Given the description of an element on the screen output the (x, y) to click on. 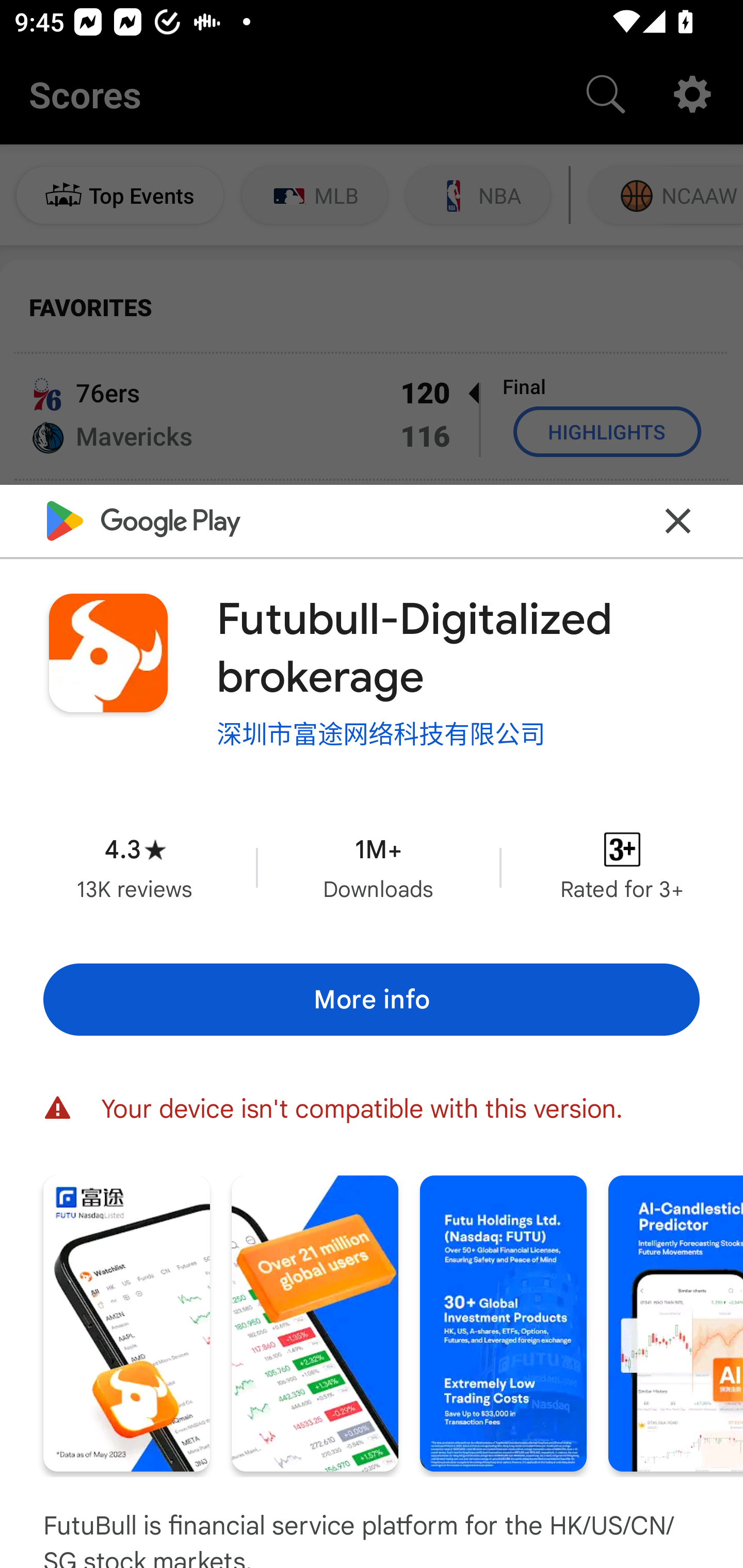
Close (677, 520)
深圳市富途网络科技有限公司 (380, 733)
More info (371, 999)
Screenshot "1" of "8" (126, 1323)
Screenshot "2" of "8" (314, 1323)
Screenshot "3" of "8" (502, 1323)
Screenshot "4" of "8" (675, 1323)
